Given the description of an element on the screen output the (x, y) to click on. 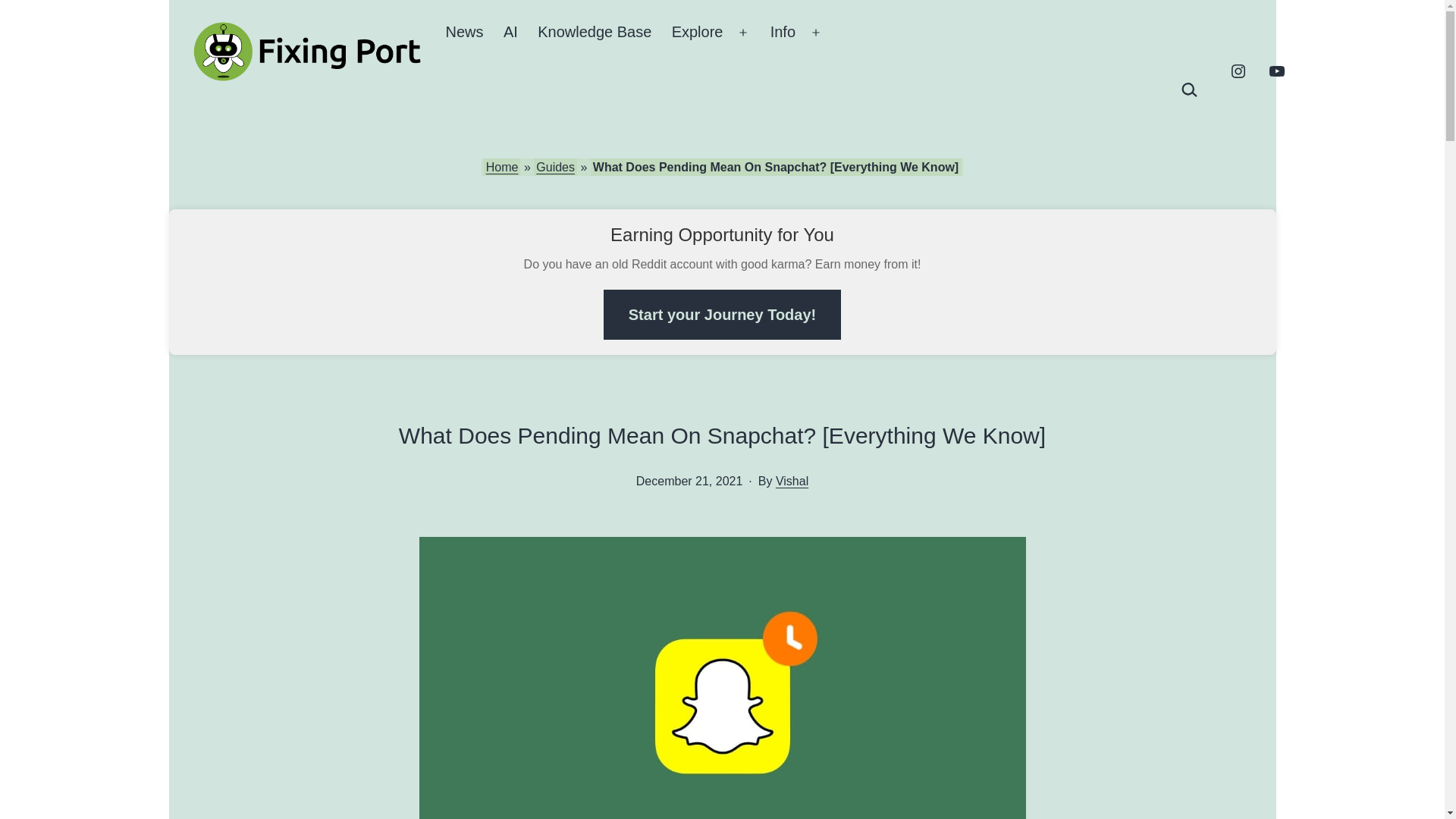
Start your Journey Today! (722, 314)
Guides (555, 166)
News (464, 32)
Explore (696, 32)
Instagram (1238, 70)
Home (502, 166)
Info (782, 32)
Vishal (792, 481)
AI (510, 32)
Knowledge Base (594, 32)
Youtube (1276, 70)
